Given the description of an element on the screen output the (x, y) to click on. 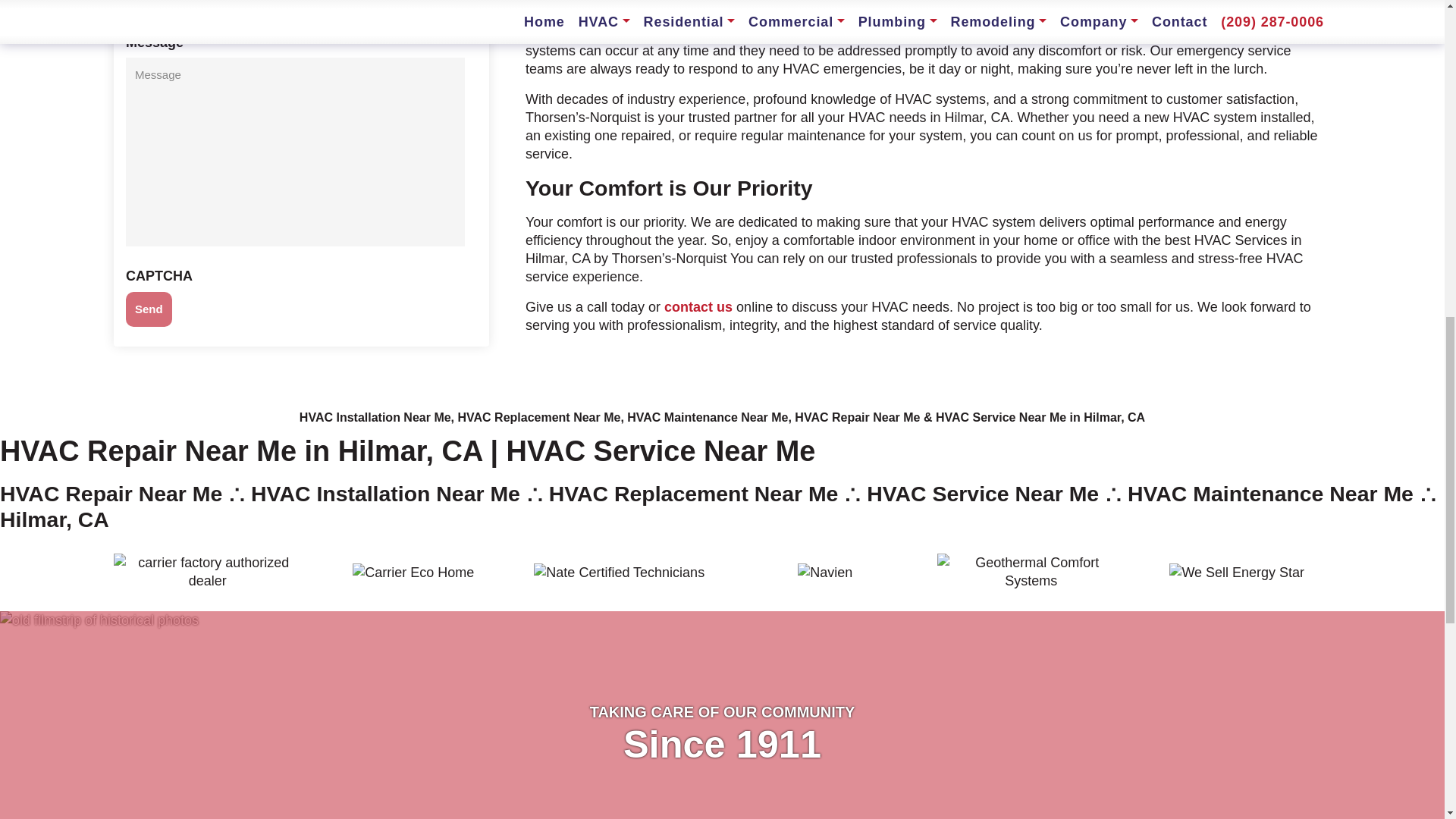
Send (148, 82)
